Given the description of an element on the screen output the (x, y) to click on. 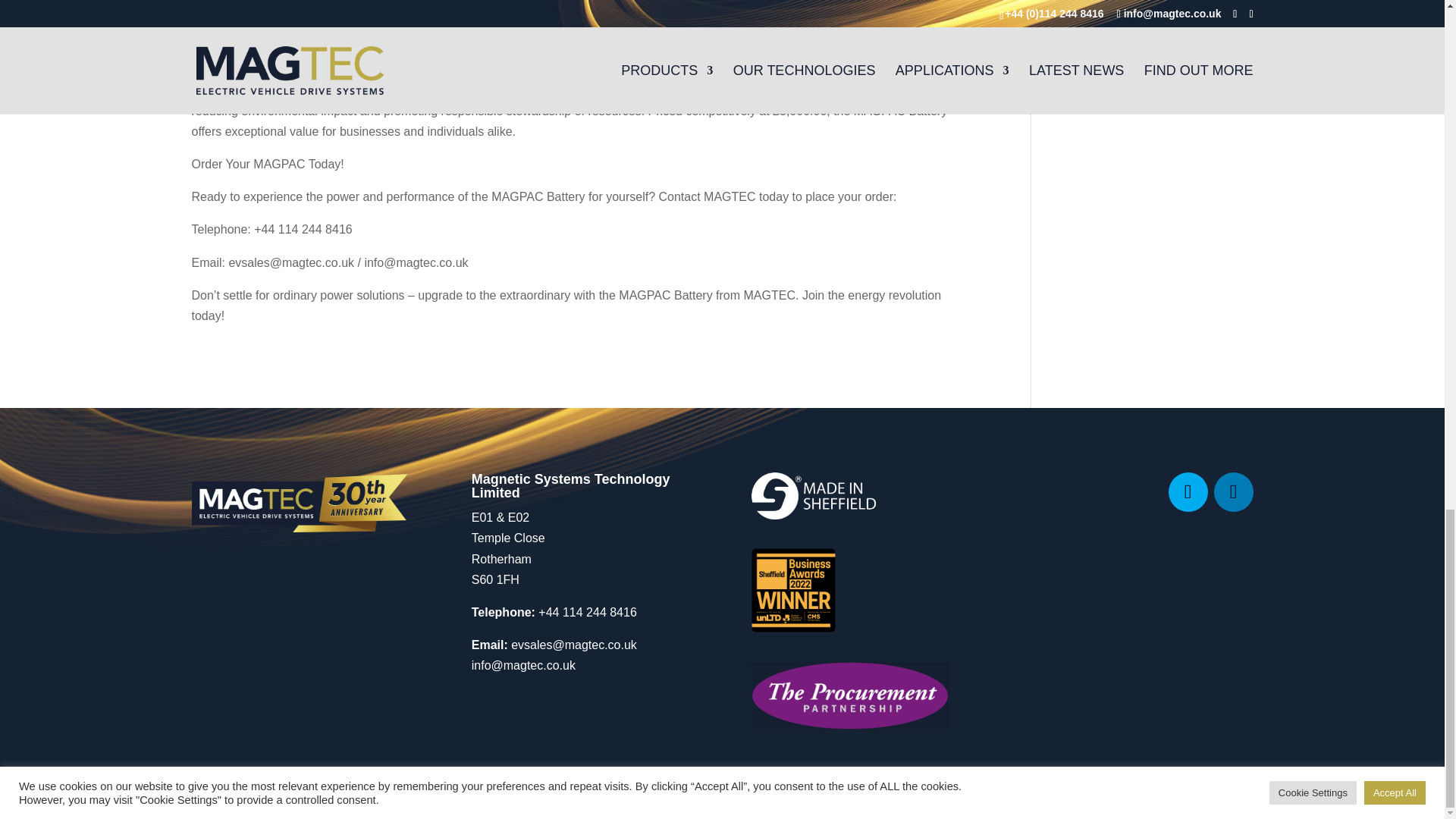
logo Made in Sheffield (813, 495)
Follow on Twitter (1187, 491)
Follow on LinkedIn (1232, 491)
SBA Winners plaque2 (793, 589)
